Given the description of an element on the screen output the (x, y) to click on. 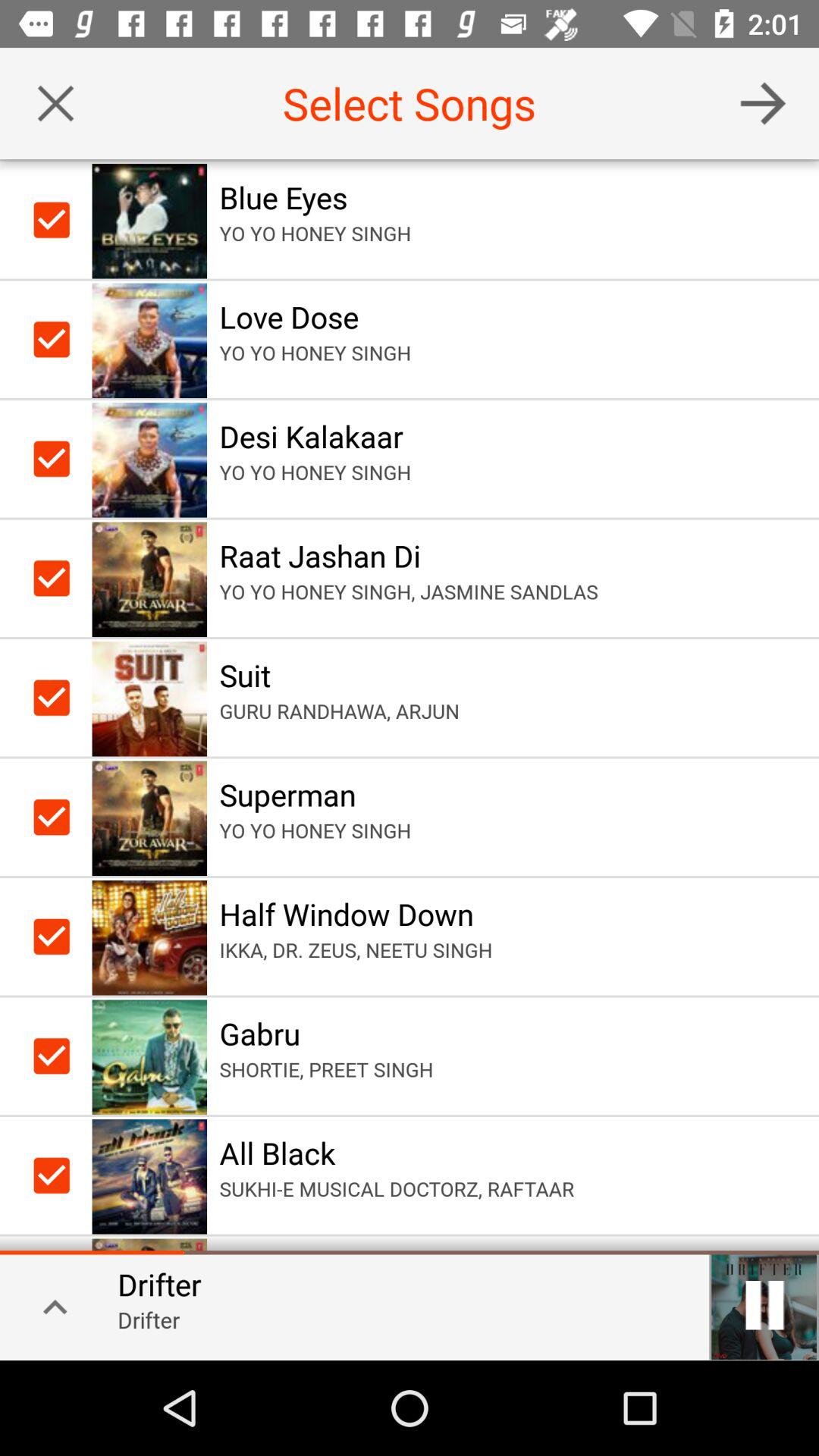
expand current song settings (49, 1305)
